Given the description of an element on the screen output the (x, y) to click on. 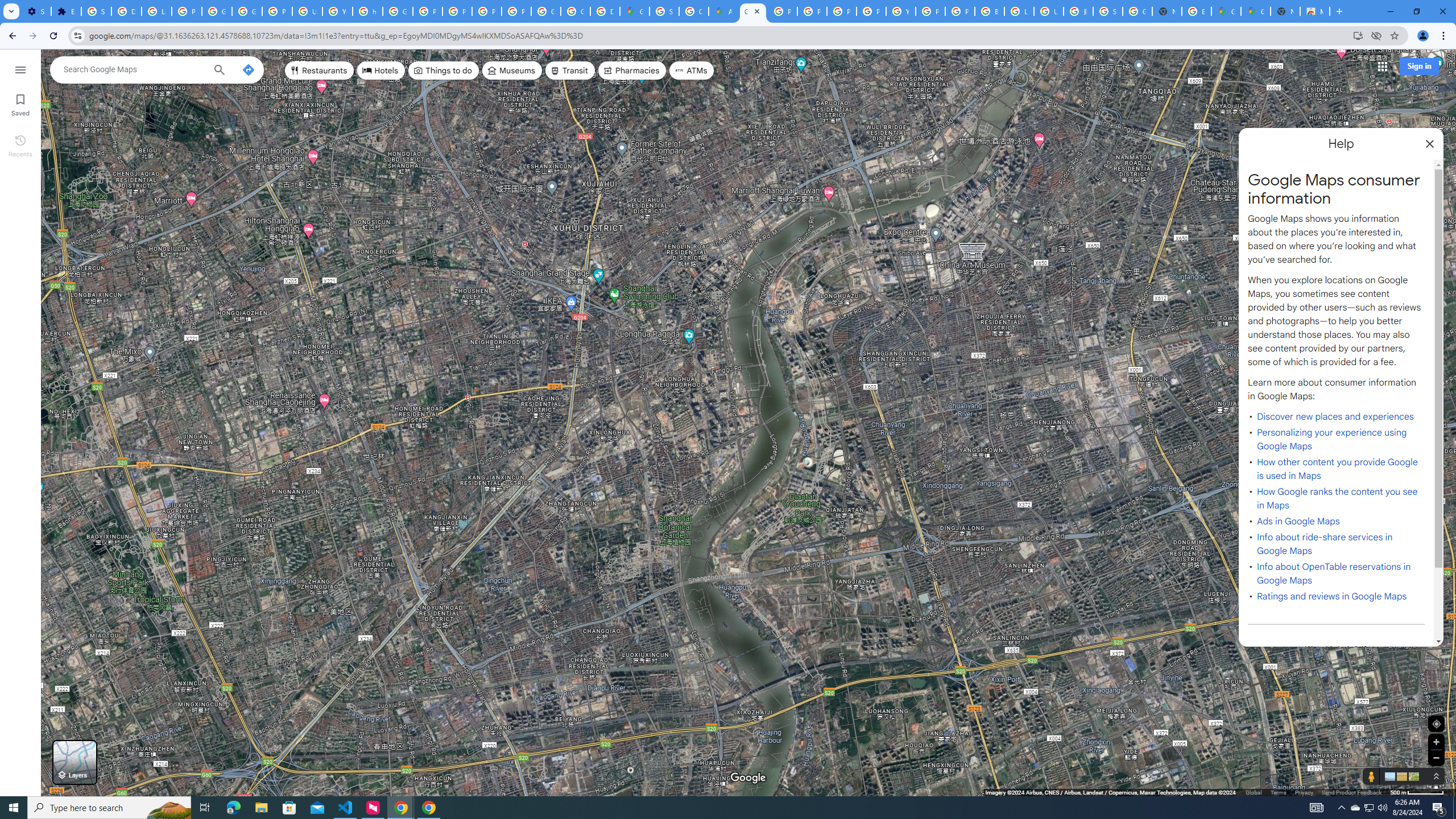
New Tab (1284, 11)
Google Maps (634, 11)
Search Google Maps (133, 69)
Sign in - Google Accounts (1107, 11)
Global (1253, 792)
Saved (20, 104)
How other content you provide Google is used in Maps (1337, 469)
ATMs (691, 70)
Sign in - Google Accounts (95, 11)
Show Street View coverage (1371, 776)
